Given the description of an element on the screen output the (x, y) to click on. 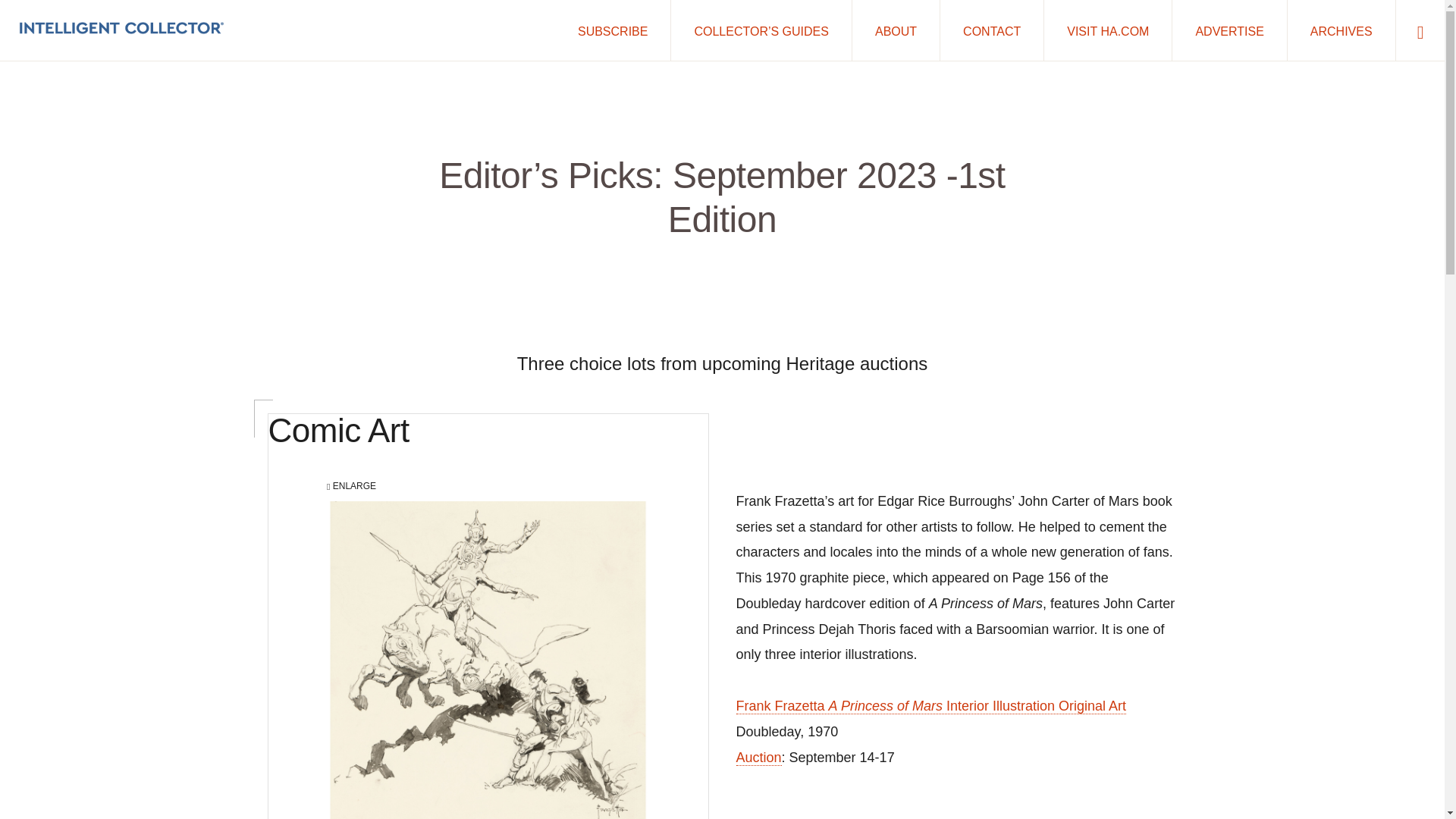
Auction (757, 757)
ADVERTISE (1228, 30)
FREE EVALUATIONS (709, 775)
ARCHIVES (1340, 30)
AUCTION ARCHIVES (486, 775)
ABOUT HERITAGE AUCTIONS (340, 775)
FORMAL APPRAISALS (834, 775)
HOW TO BID (794, 764)
BECOME A MEMBER (944, 764)
